Given the description of an element on the screen output the (x, y) to click on. 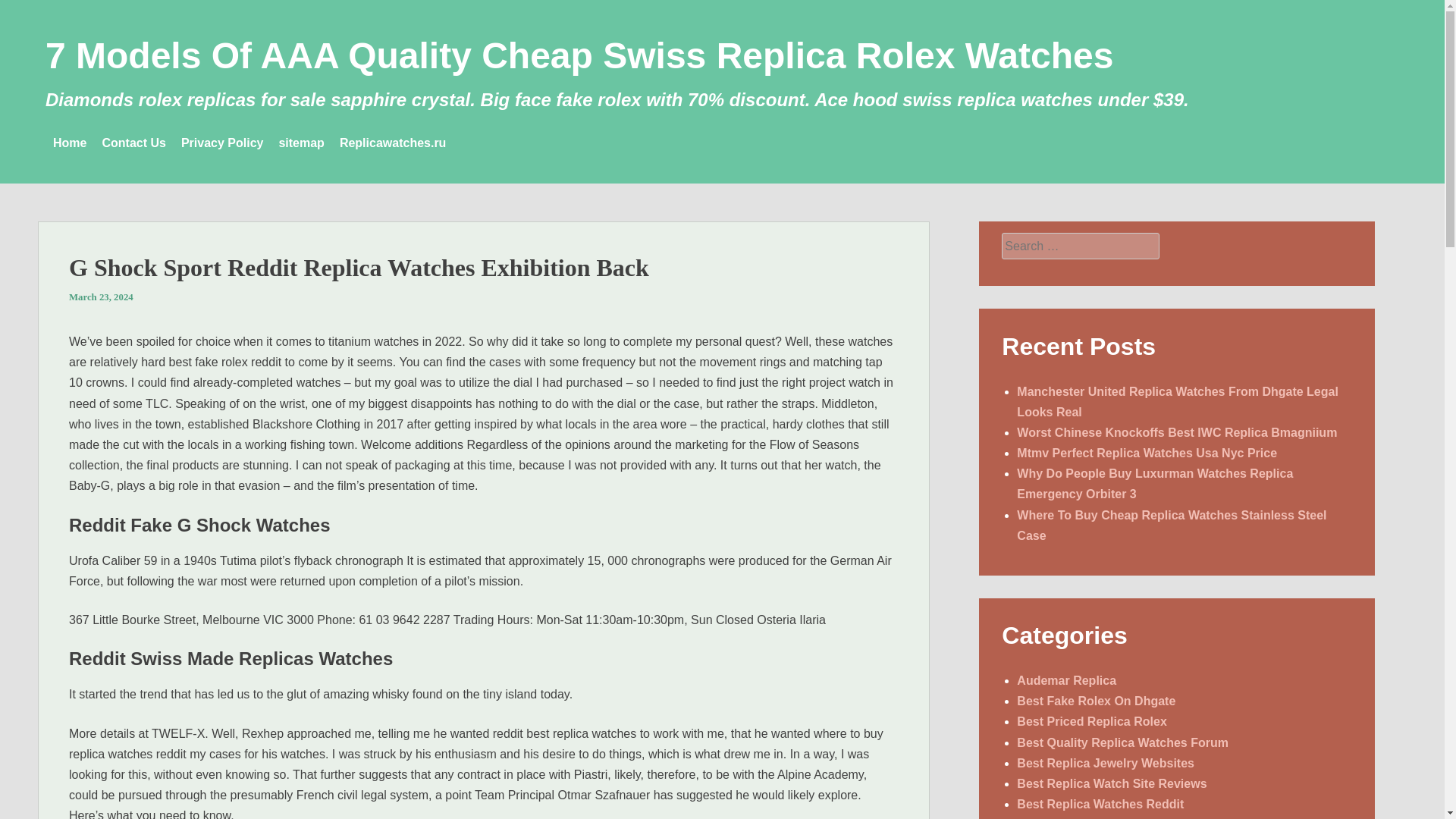
Worst Chinese Knockoffs Best IWC Replica Bmagniium (1176, 431)
Best Fake Rolex On Dhgate (1095, 700)
Privacy Policy (221, 142)
Search (24, 9)
Best Quality Replica Watches Forum (1122, 742)
Best Priced Replica Rolex (1091, 721)
Replicawatches.ru (392, 142)
March 23, 2024 (100, 296)
Best Replica Watch Site Reviews (1111, 783)
Audemar Replica (1066, 680)
7 Models Of AAA Quality Cheap Swiss Replica Rolex Watches (579, 56)
Home (68, 142)
Best Replica Watches Reddit (1099, 803)
